Given the description of an element on the screen output the (x, y) to click on. 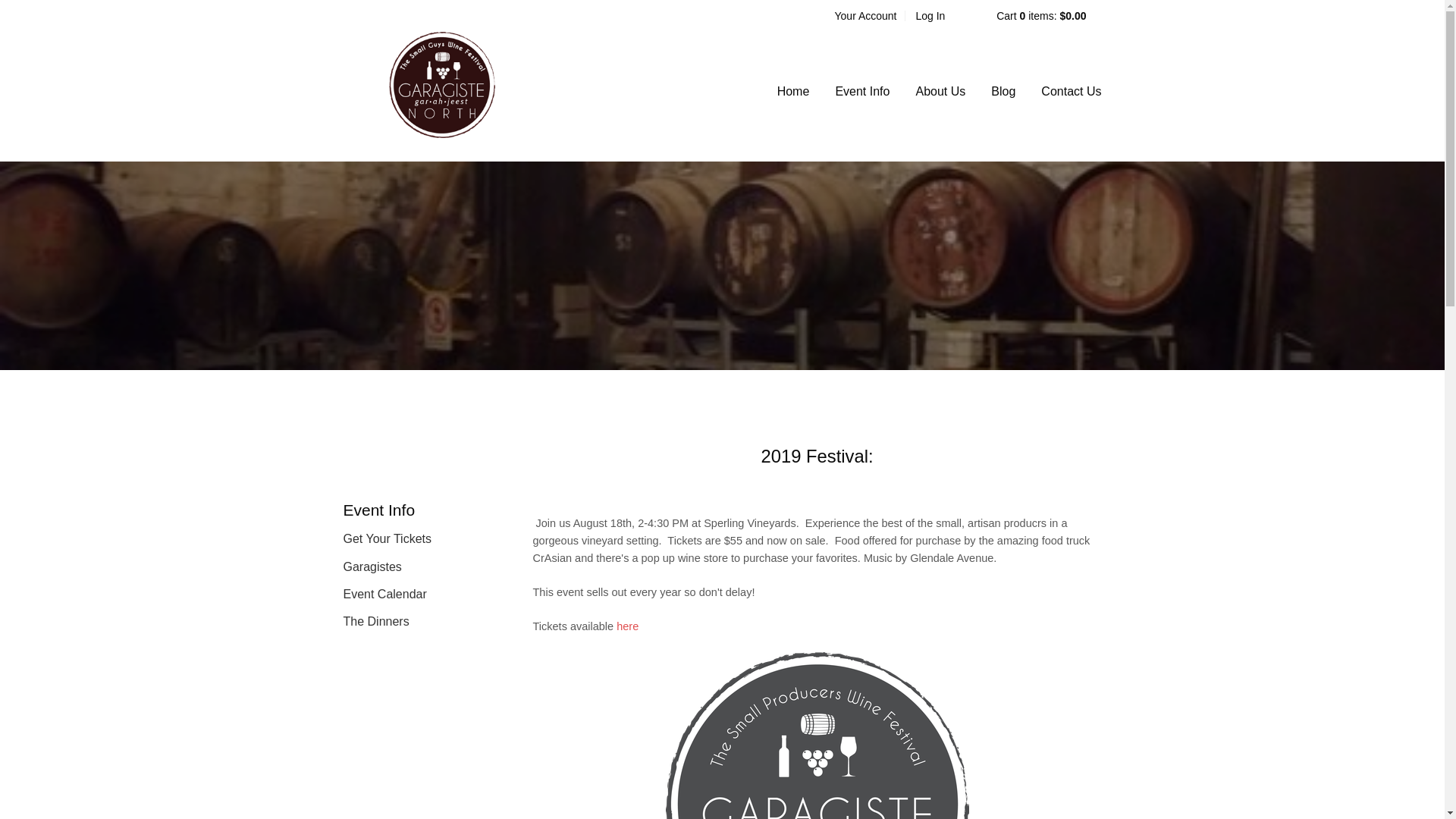
here (627, 625)
Home (793, 91)
Event Calendar (409, 594)
Contact Us (1070, 91)
Your Account (865, 15)
Garagiste North (441, 84)
Garagistes (409, 566)
Get Your Tickets (409, 538)
Event Info (861, 91)
Log In (929, 15)
The Dinners (409, 621)
About Us (940, 91)
